Given the description of an element on the screen output the (x, y) to click on. 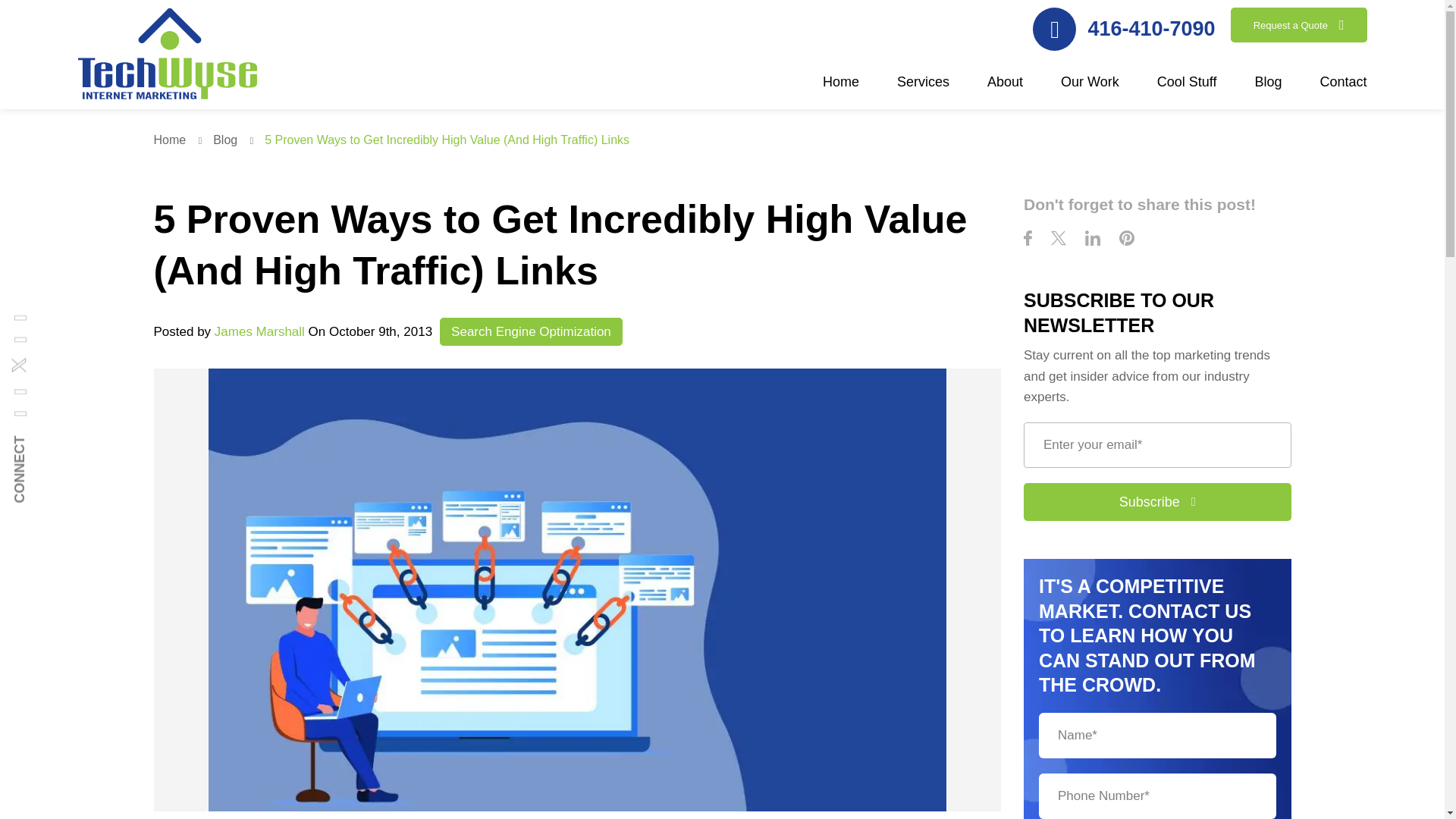
Services (922, 90)
Home (840, 90)
Our Work (1090, 90)
Add To Facebook (10, 422)
Search Engine Optimization (531, 331)
LinkedIn (1092, 240)
Blog (236, 139)
Pinterest (1126, 240)
Request a Quote (1298, 24)
About (1005, 90)
Follow On Twitter (1058, 240)
Posts by James Marshall (259, 331)
Home (180, 139)
Add To Facebook (1027, 240)
416-410-7090 (1123, 28)
